Given the description of an element on the screen output the (x, y) to click on. 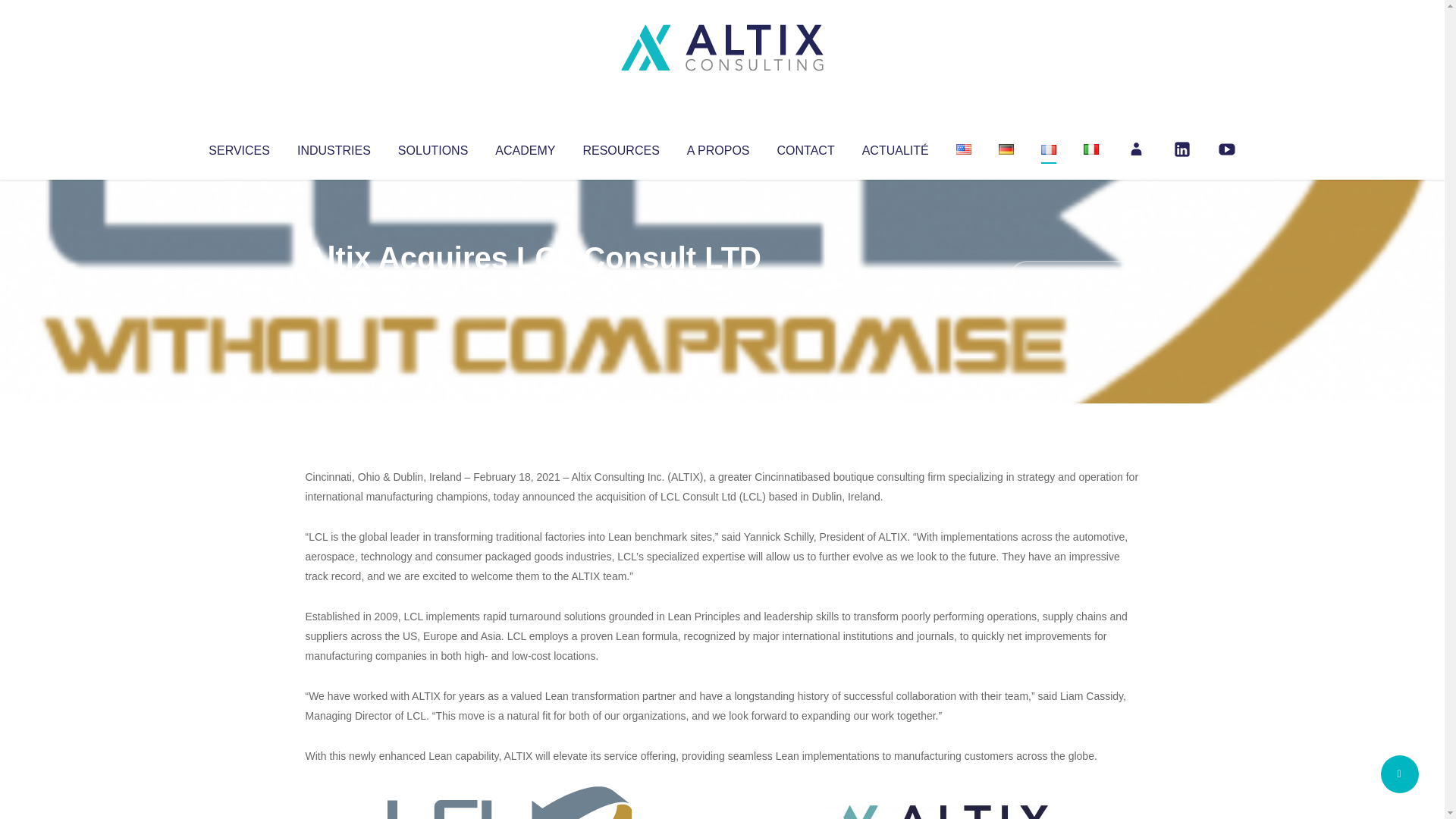
A PROPOS (718, 146)
Uncategorized (530, 287)
RESOURCES (620, 146)
SERVICES (238, 146)
INDUSTRIES (334, 146)
ACADEMY (524, 146)
Altix (333, 287)
No Comments (1073, 278)
SOLUTIONS (432, 146)
Articles par Altix (333, 287)
